Given the description of an element on the screen output the (x, y) to click on. 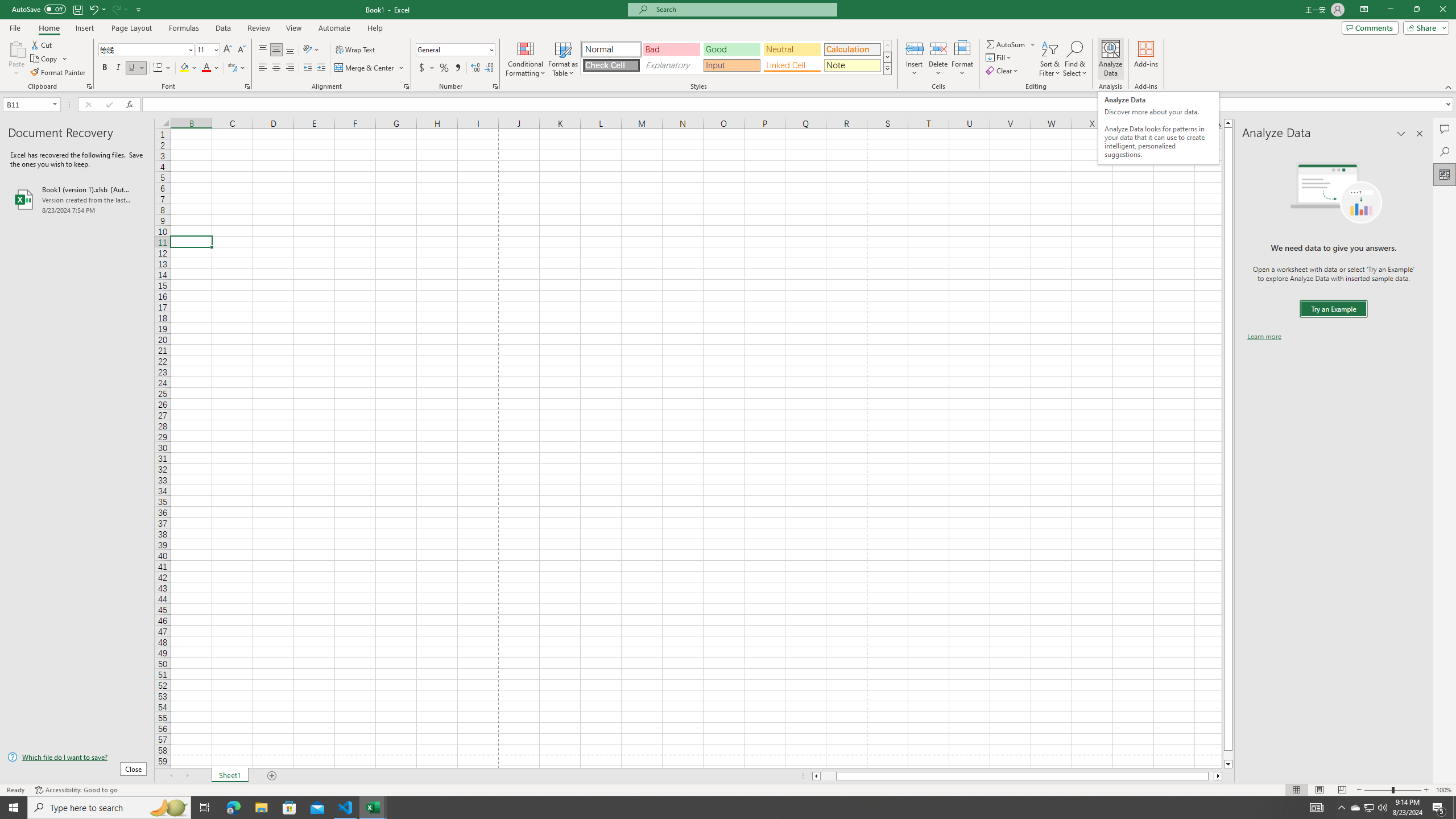
Undo (96, 9)
Data (223, 28)
Bad (671, 49)
Decrease Indent (307, 67)
Decrease Font Size (240, 49)
Delete Cells... (938, 48)
AutoSave (38, 9)
Collapse the Ribbon (1448, 86)
Linked Cell (791, 65)
Bottom Border (157, 67)
Insert (914, 58)
Orientation (311, 49)
Row Down (887, 56)
Bottom Align (290, 49)
Fill Color RGB(255, 255, 0) (183, 67)
